Given the description of an element on the screen output the (x, y) to click on. 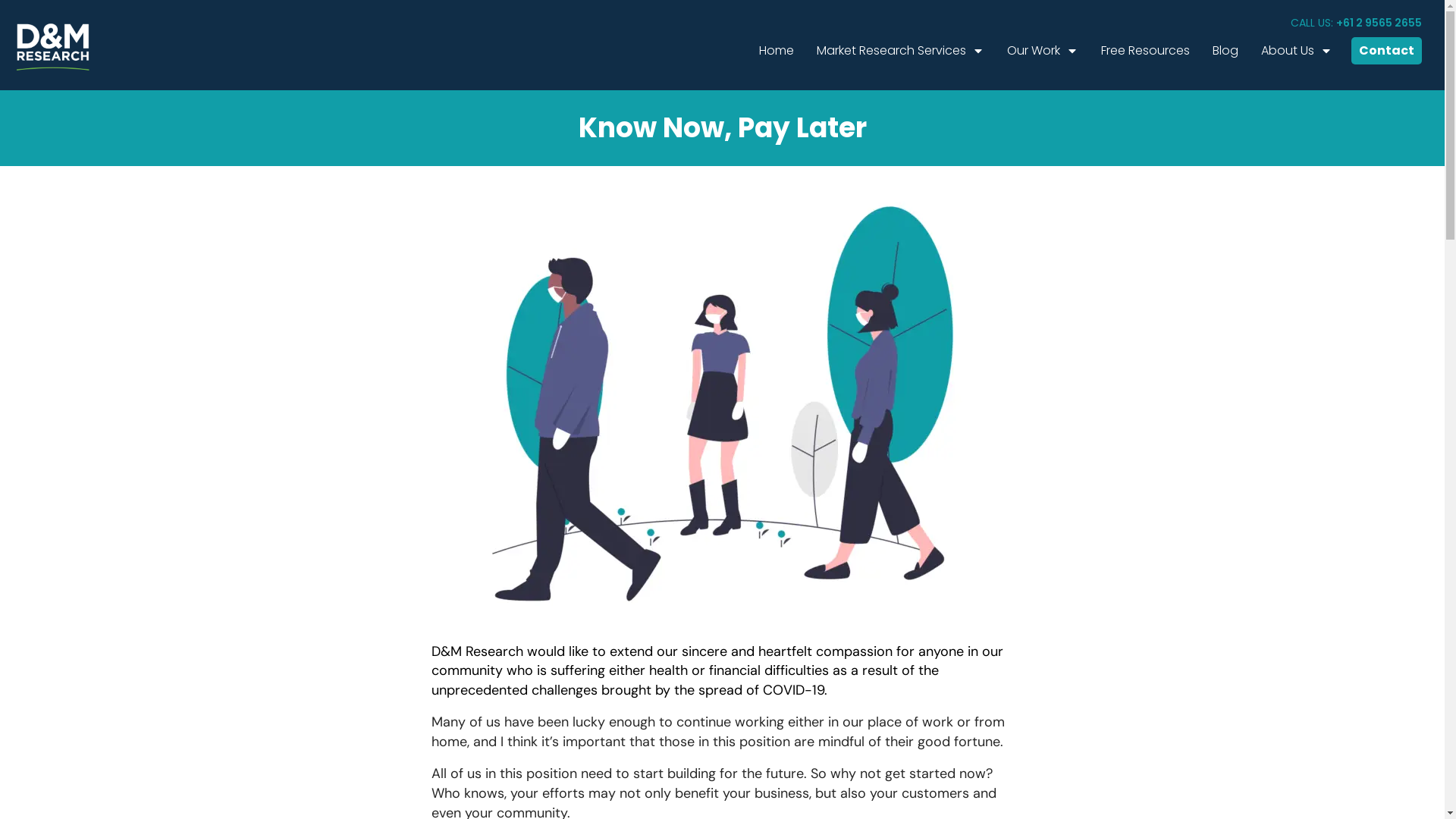
Market Research Services Element type: text (900, 50)
Our Work Element type: text (1042, 50)
+61 2 9565 2655 Element type: text (1378, 22)
Free Resources Element type: text (1145, 50)
Blog Element type: text (1225, 50)
Home Element type: text (776, 50)
Contact Element type: text (1386, 50)
About Us Element type: text (1296, 50)
undraw_social_distancing_2g0u Element type: hover (721, 403)
